Given the description of an element on the screen output the (x, y) to click on. 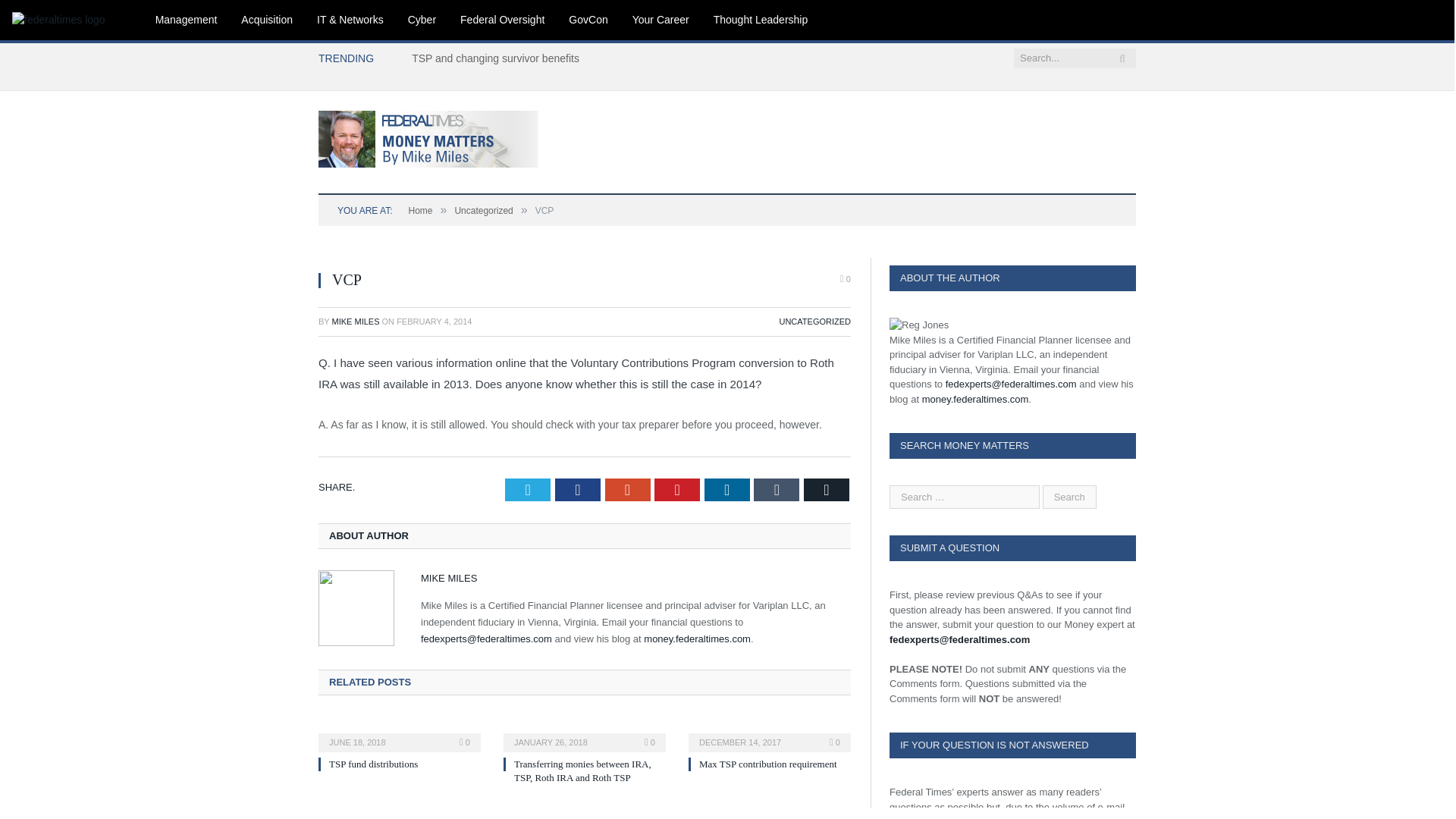
Share on Facebook (576, 489)
Tumblr (776, 489)
TSP fund distributions (373, 763)
Facebook (576, 489)
2014-02-04 (433, 320)
Federal Oversight (502, 19)
TSP and changing survivor benefits (499, 58)
TSP and changing survivor benefits (499, 58)
Ask The Experts: Money Matters (428, 136)
Acquisition (266, 19)
